Given the description of an element on the screen output the (x, y) to click on. 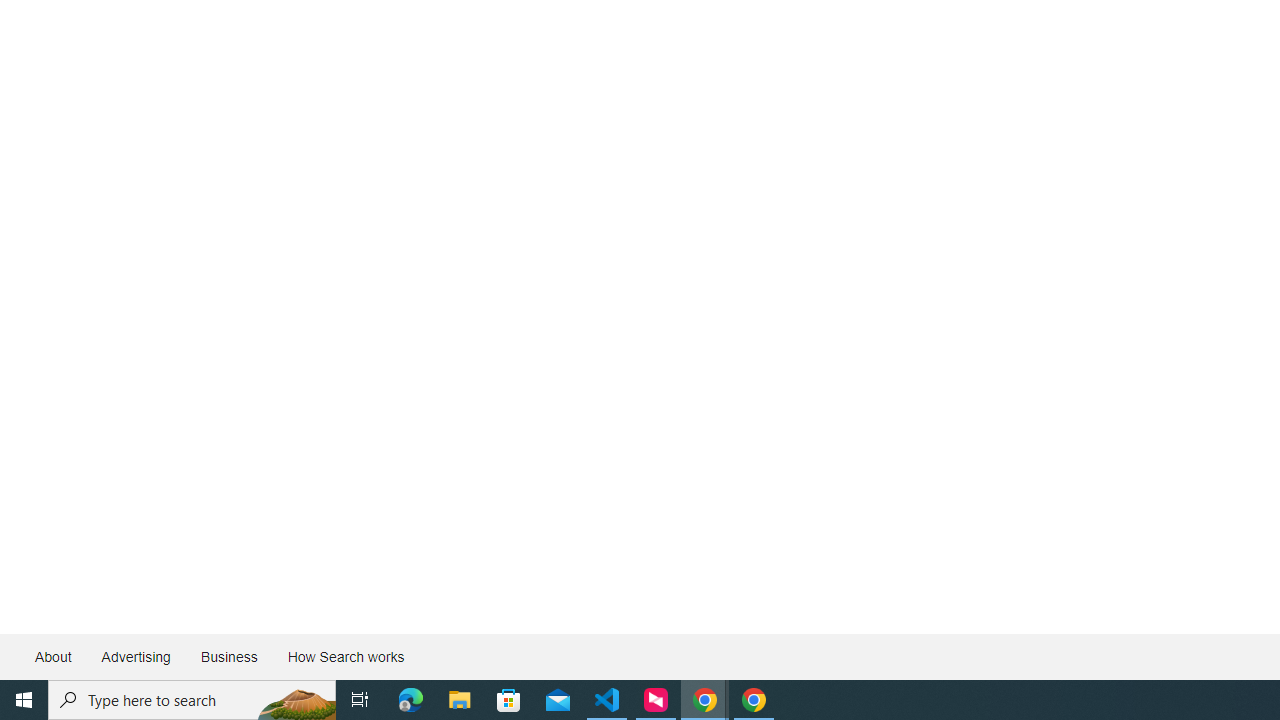
Advertising (135, 656)
Business (228, 656)
How Search works (345, 656)
